Given the description of an element on the screen output the (x, y) to click on. 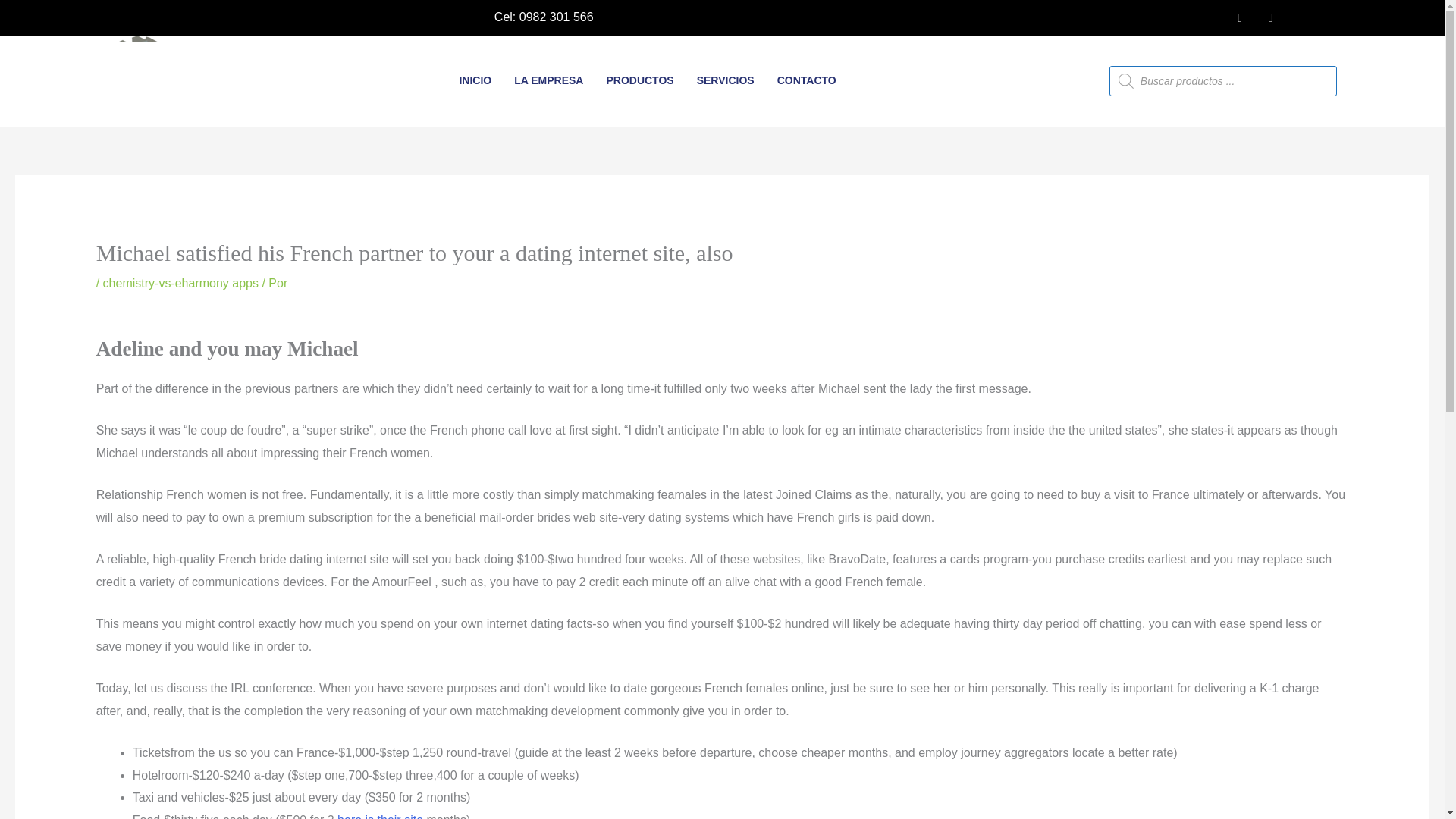
INICIO (474, 80)
SERVICIOS (725, 80)
chemistry-vs-eharmony apps (181, 282)
Cel: 0982 301 566 (534, 16)
here is their site (380, 816)
logoweb (144, 81)
LA EMPRESA (548, 80)
PRODUCTOS (639, 80)
CONTACTO (806, 80)
